Given the description of an element on the screen output the (x, y) to click on. 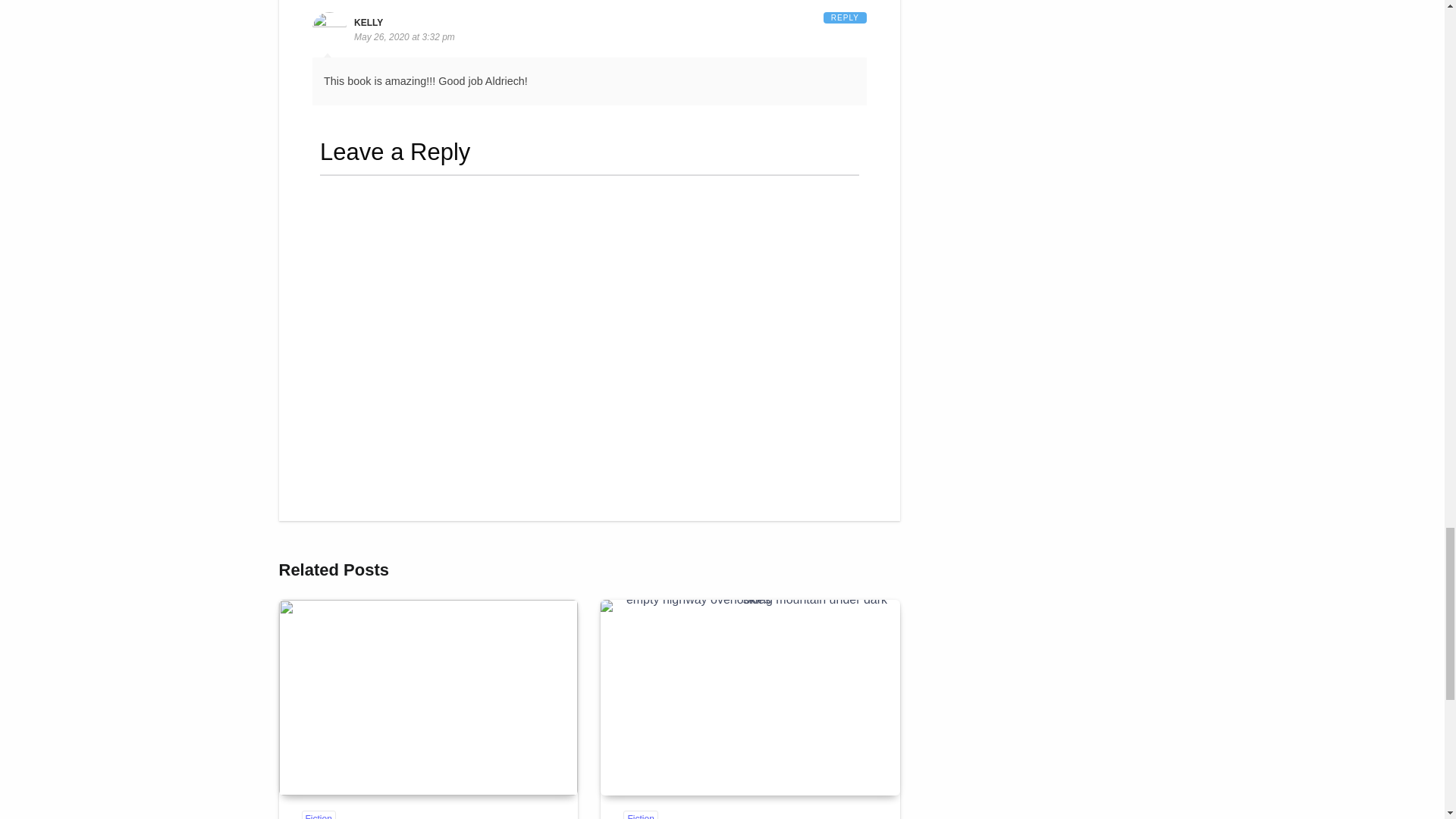
REPLY (845, 17)
A Bump in the Road (749, 697)
Fiction (318, 814)
Fiction (640, 814)
May 26, 2020 at 3:32 pm (403, 36)
